Given the description of an element on the screen output the (x, y) to click on. 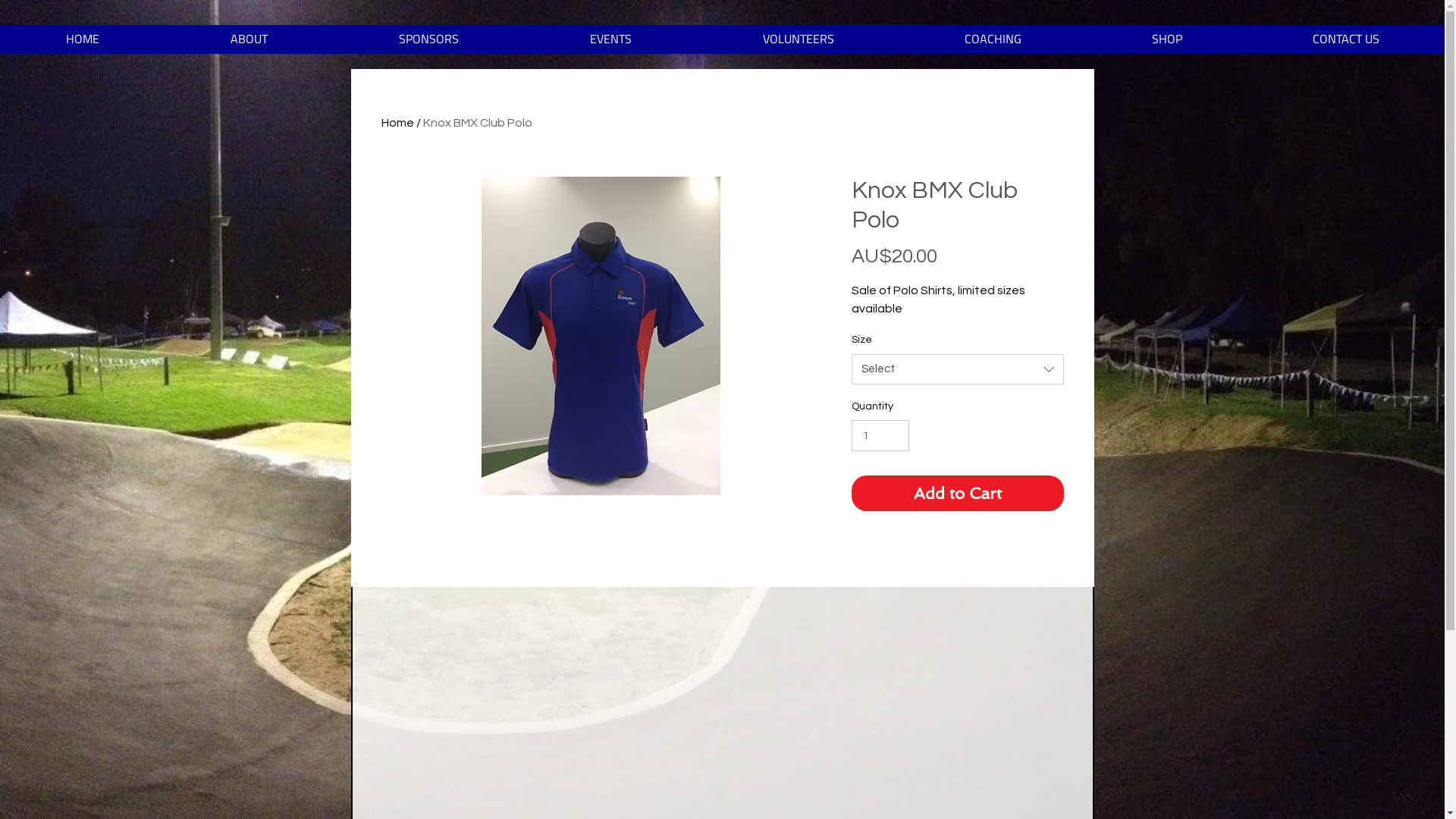
COACHING Element type: text (992, 43)
CONTACT US Element type: text (1345, 43)
ABOUT Element type: text (248, 43)
Add to Cart Element type: text (956, 493)
HOME Element type: text (82, 43)
VOLUNTEERS Element type: text (797, 43)
Select Element type: text (956, 369)
SHOP Element type: text (1166, 43)
EVENTS Element type: text (610, 43)
Home Element type: text (396, 122)
SPONSORS Element type: text (428, 43)
